Given the description of an element on the screen output the (x, y) to click on. 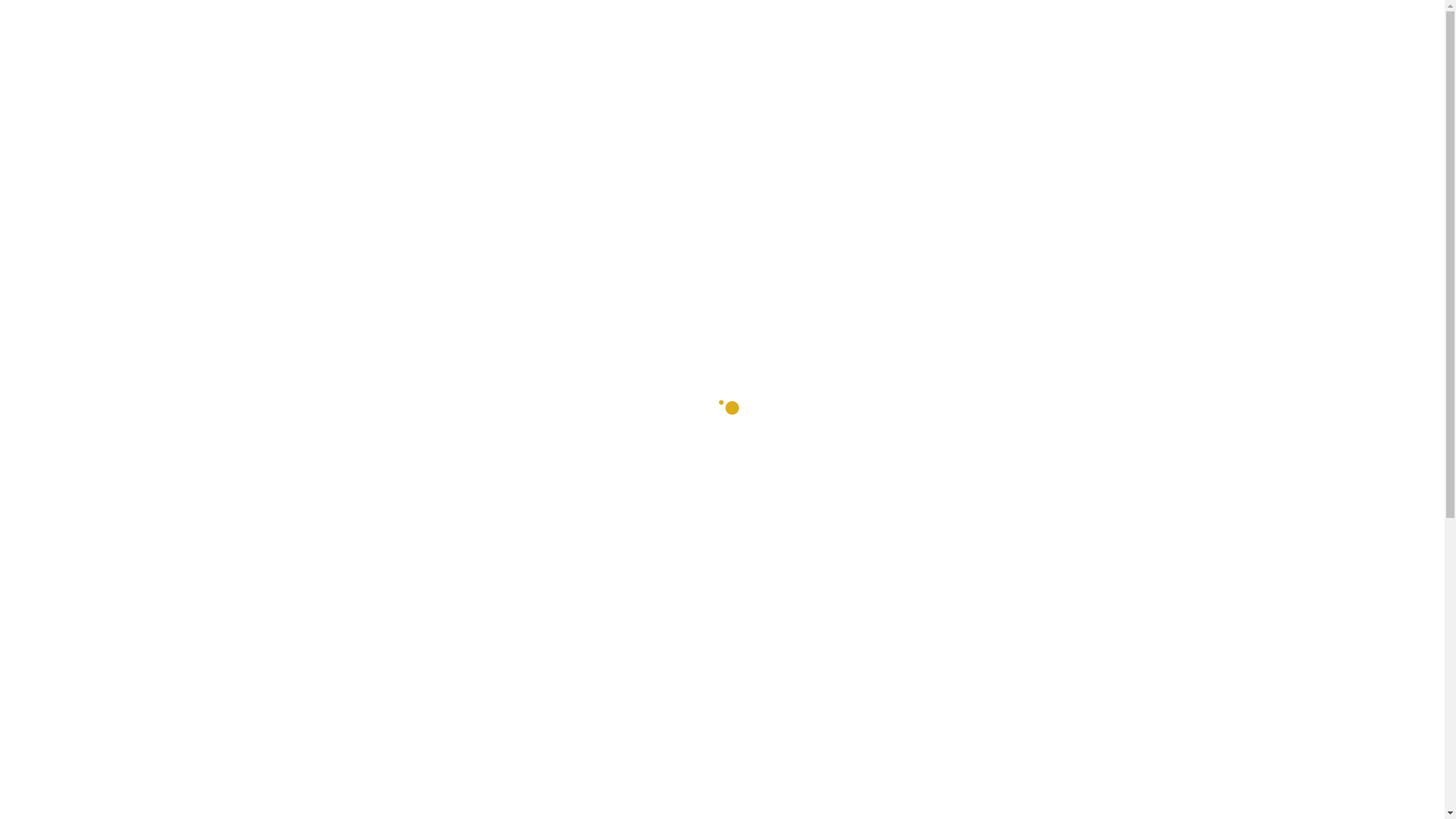
GET IN TOUCH Element type: text (768, 87)
READ HER STORY Element type: text (1074, 88)
Bevann Fox Element type: hover (417, 30)
here Element type: text (421, 439)
HOME Element type: text (351, 87)
ABOUT Element type: text (425, 87)
JOURNAL Element type: text (510, 87)
PHOTO GALLERIES Element type: text (632, 87)
Submit Element type: text (683, 635)
